Given the description of an element on the screen output the (x, y) to click on. 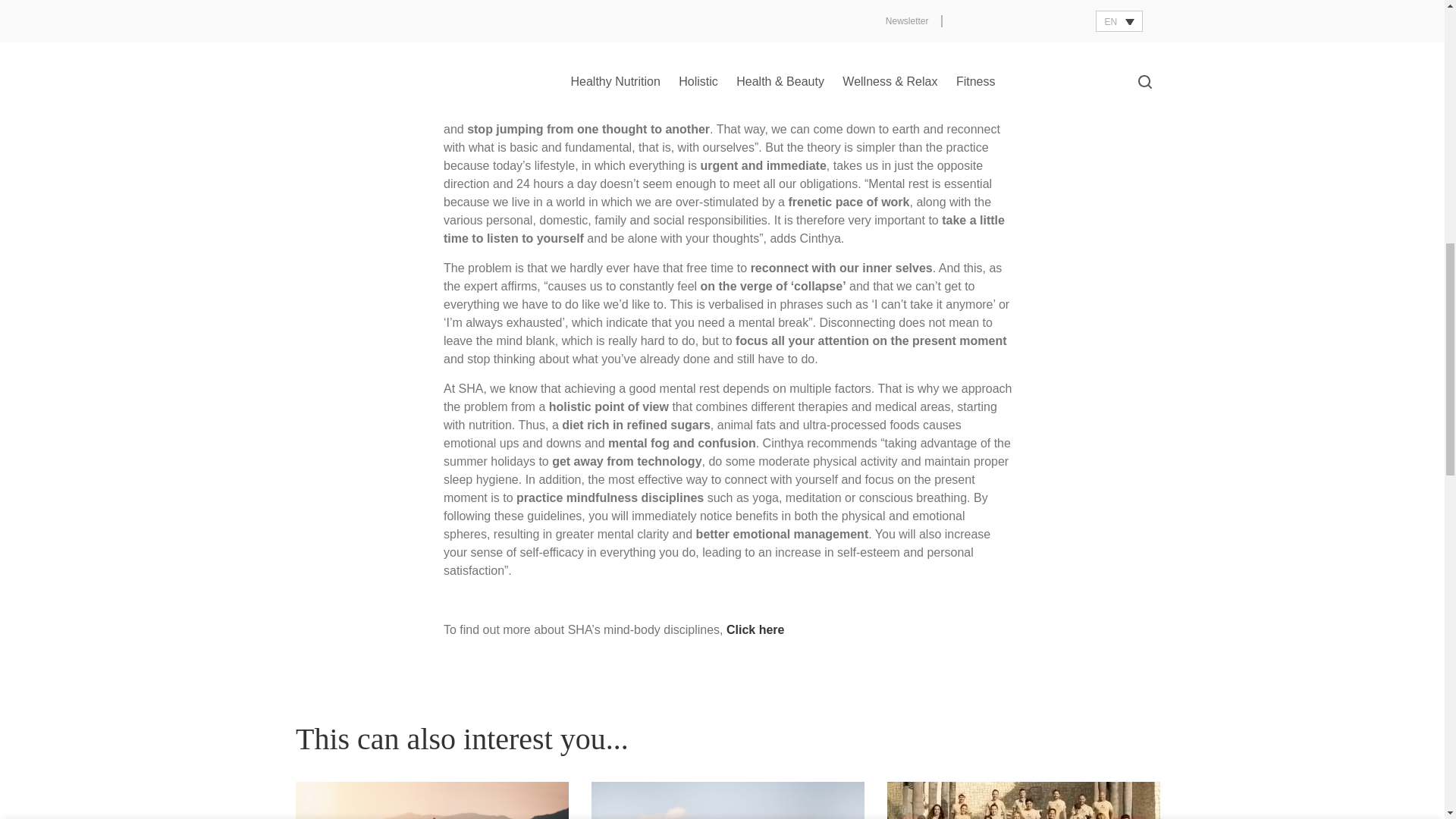
Share on Pinterest (1082, 25)
Share on Twitter (1053, 25)
Share on Facebook (1026, 25)
Share on Email (1138, 25)
Share on LinkedIn (1109, 25)
Click here (755, 629)
